Given the description of an element on the screen output the (x, y) to click on. 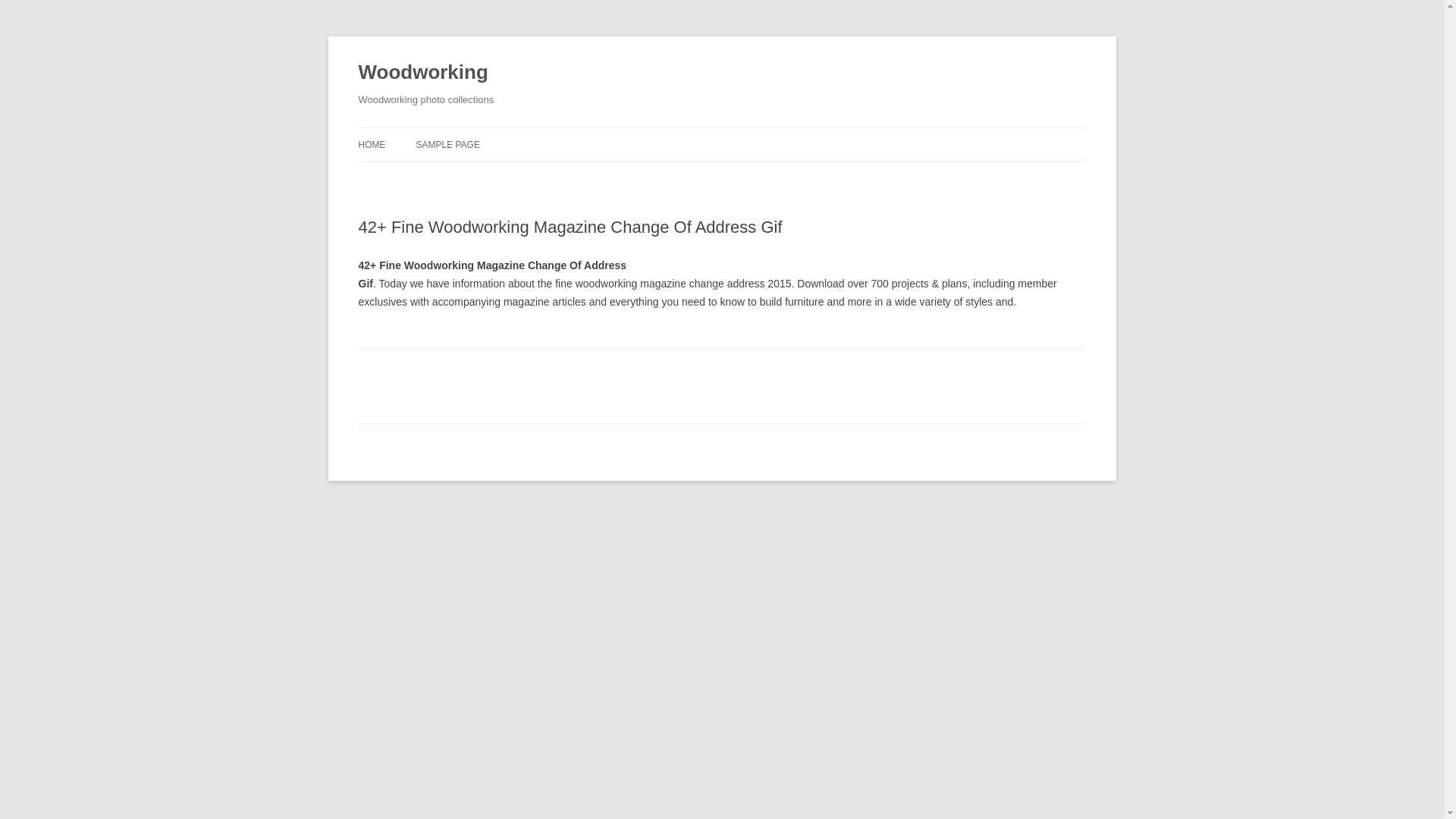
Woodworking (422, 72)
SAMPLE PAGE (446, 144)
